Given the description of an element on the screen output the (x, y) to click on. 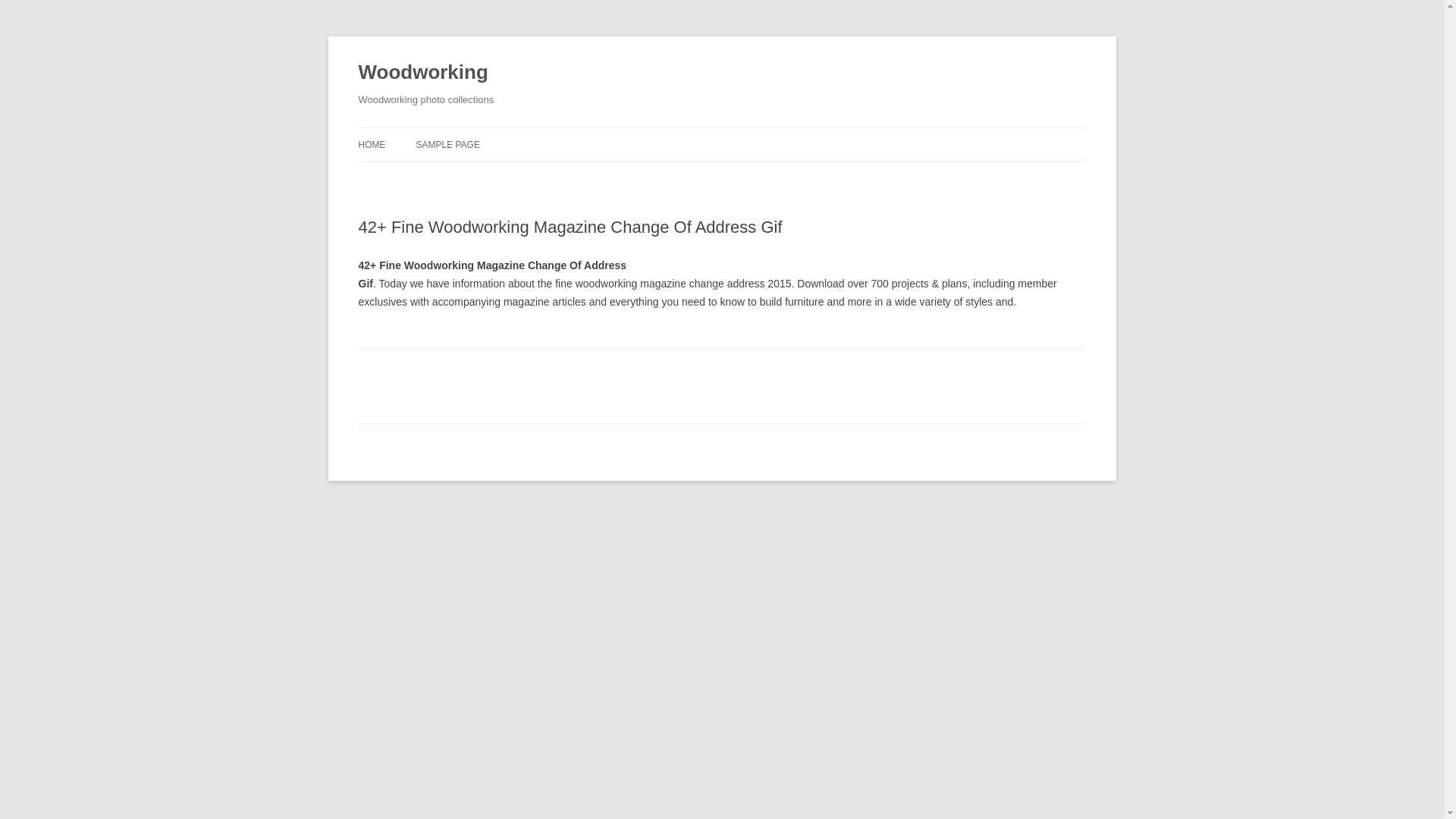
Woodworking (422, 72)
SAMPLE PAGE (446, 144)
